Given the description of an element on the screen output the (x, y) to click on. 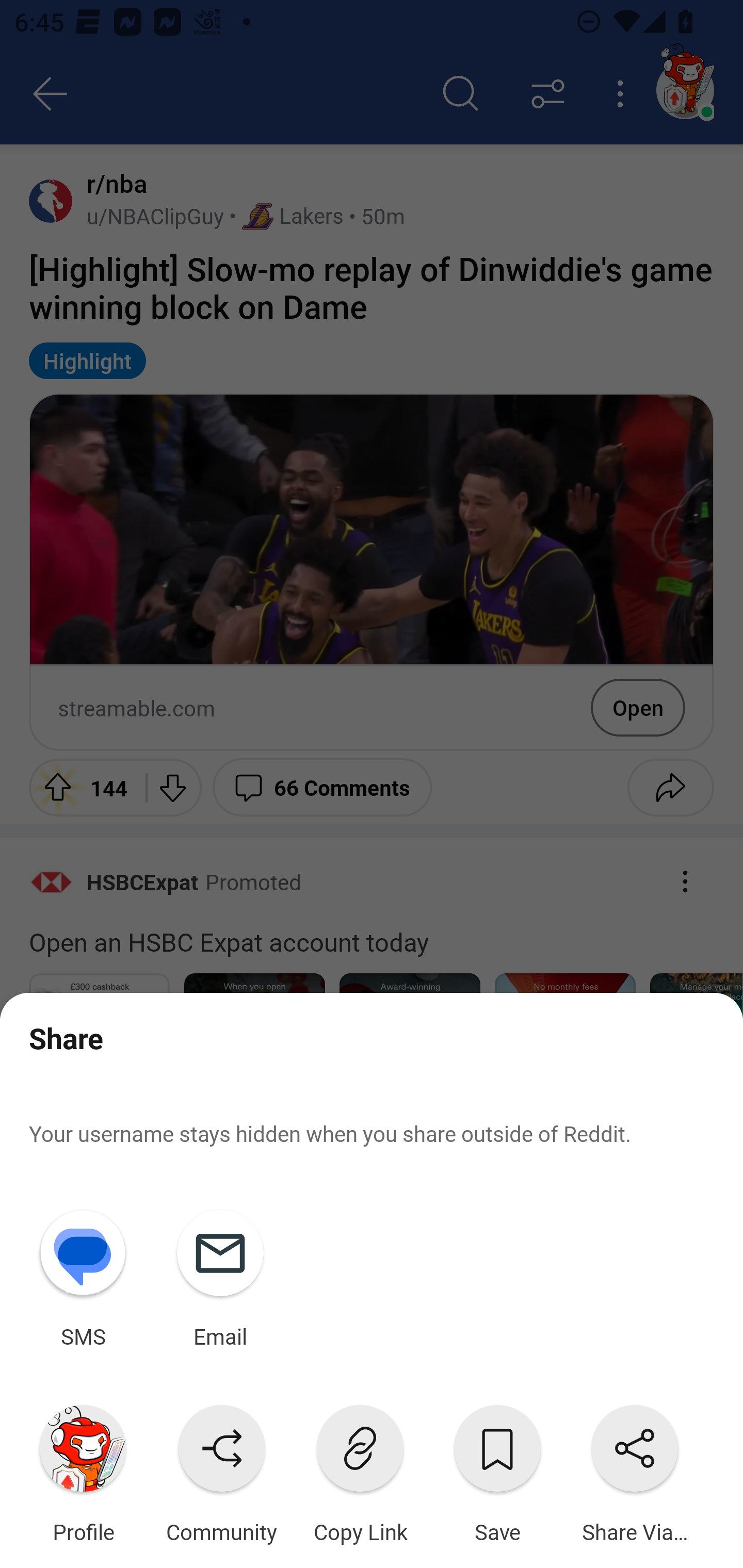
SMS (82, 1274)
Email (220, 1274)
Profile (82, 1470)
Community (221, 1470)
Copy Link (359, 1470)
Save (497, 1470)
Share Via… (634, 1470)
